Given the description of an element on the screen output the (x, y) to click on. 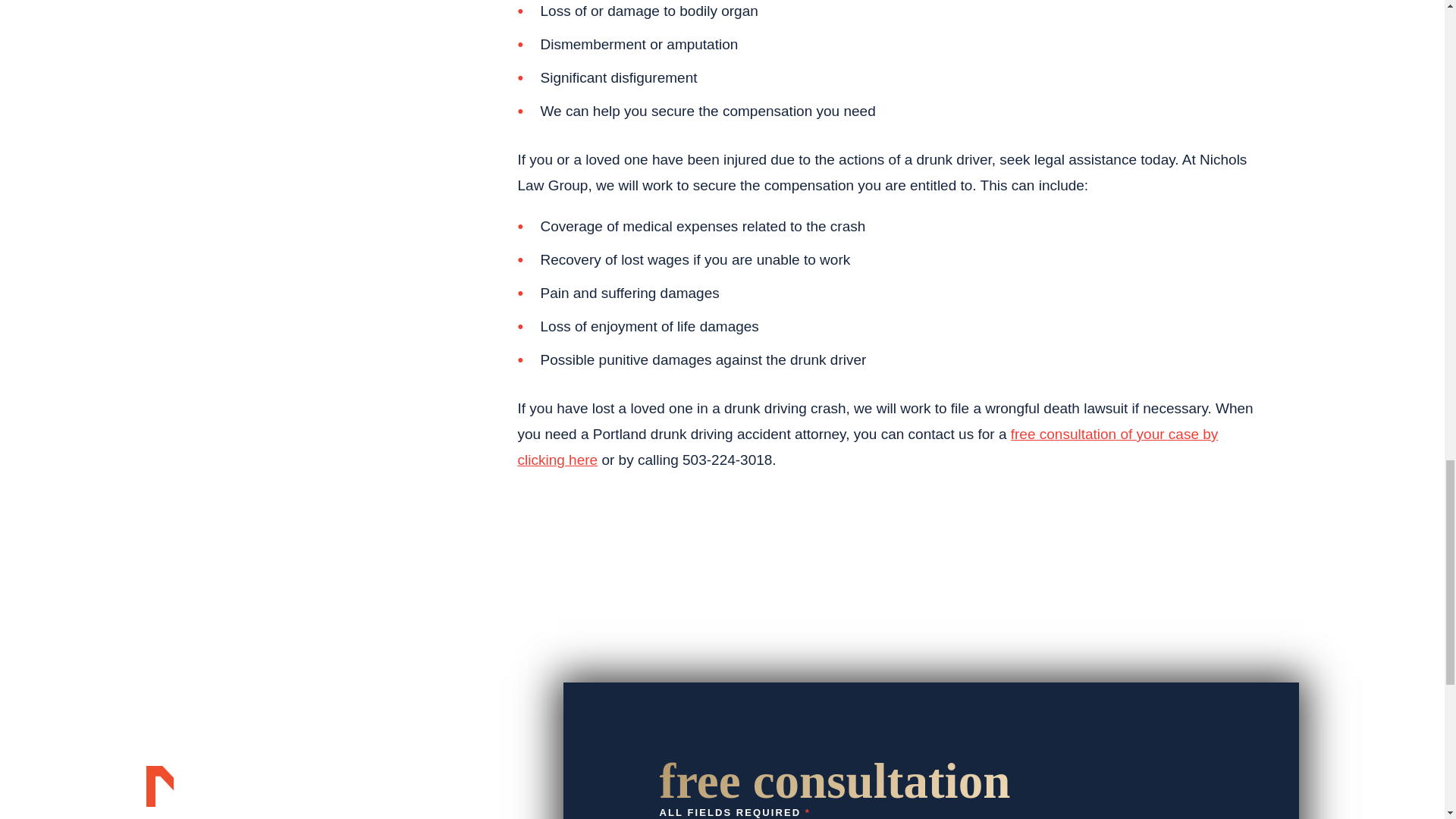
free consultation of your case by clicking here (866, 446)
